Given the description of an element on the screen output the (x, y) to click on. 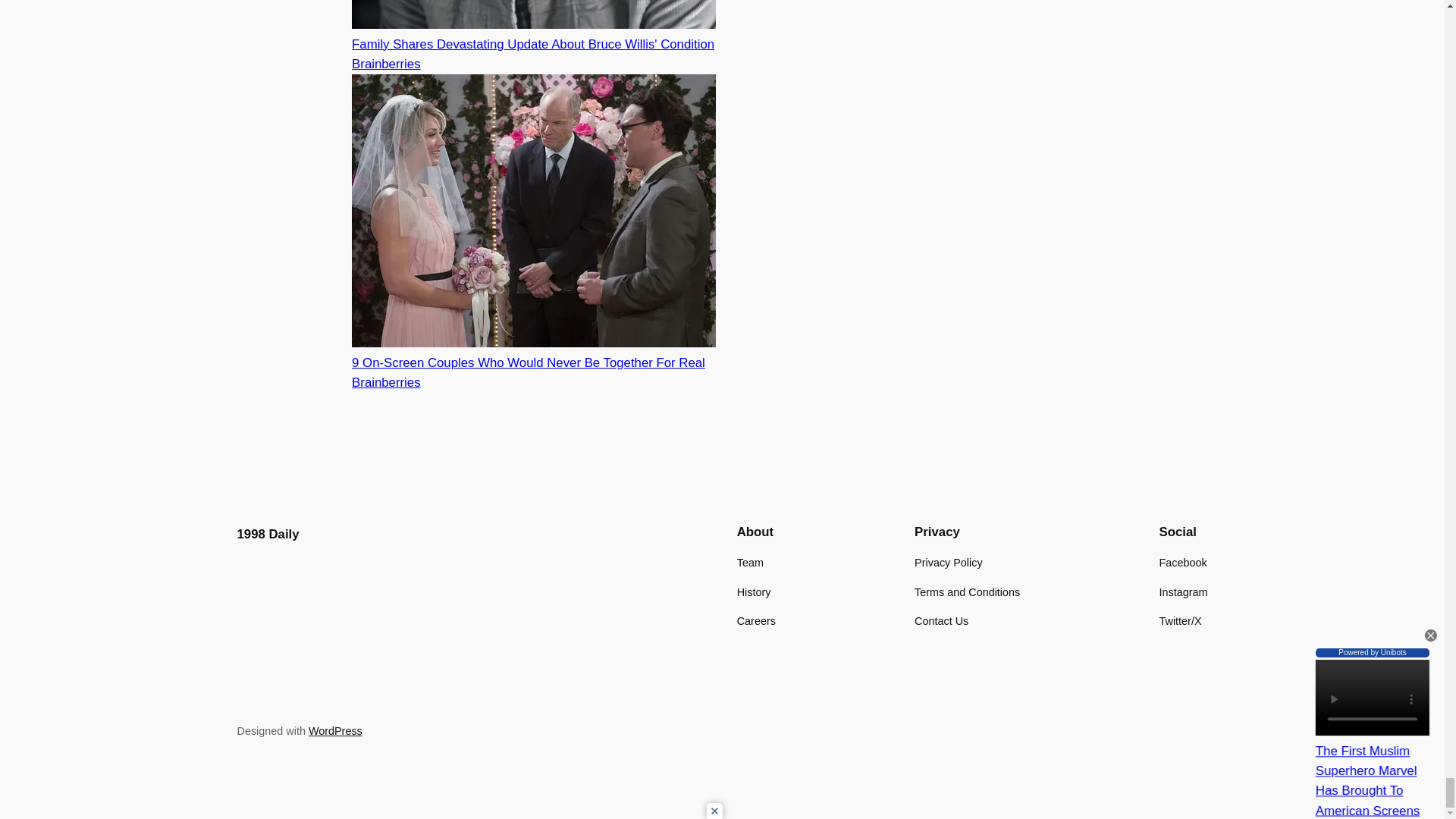
Contact Us (941, 620)
Instagram (1182, 591)
1998 Daily (266, 534)
History (753, 591)
Team (749, 562)
Careers (756, 620)
Facebook (1182, 562)
Privacy Policy (948, 562)
Terms and Conditions (967, 591)
